Given the description of an element on the screen output the (x, y) to click on. 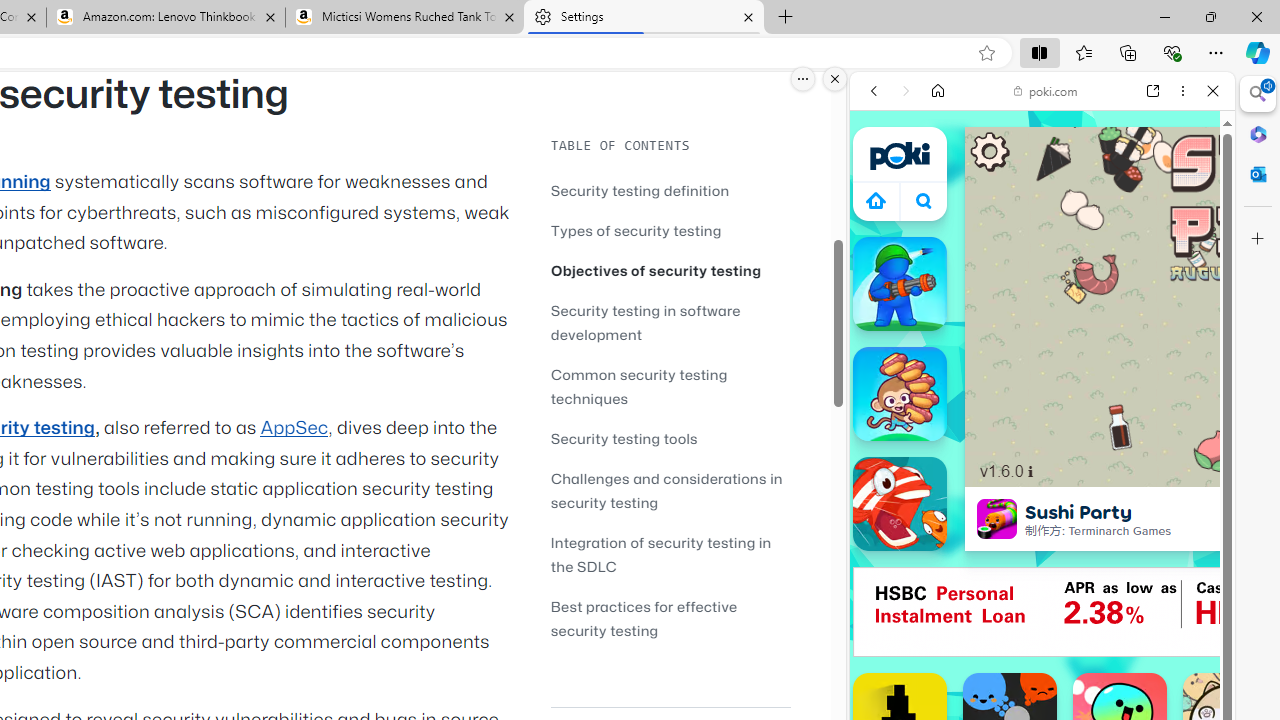
Sushi Party (996, 518)
Security testing tools (623, 438)
Common security testing techniques (670, 386)
Sports Games (1042, 666)
Close split screen. (835, 79)
Security testing tools (670, 438)
Show More Shooting Games (1164, 521)
Challenges and considerations in security testing (670, 489)
Two Player Games (1042, 568)
